Given the description of an element on the screen output the (x, y) to click on. 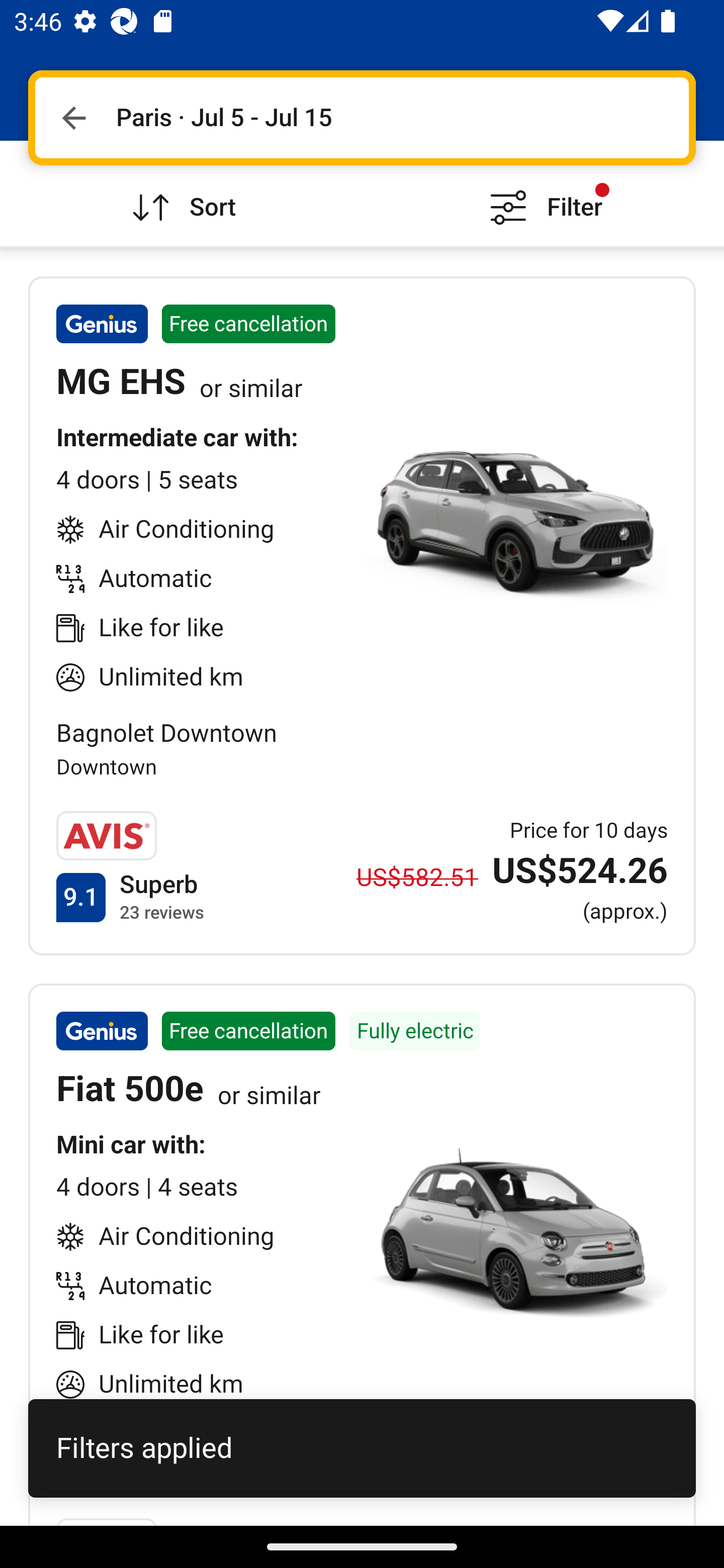
Back to previous screen (73, 117)
Sort (181, 193)
Filter (543, 193)
